Given the description of an element on the screen output the (x, y) to click on. 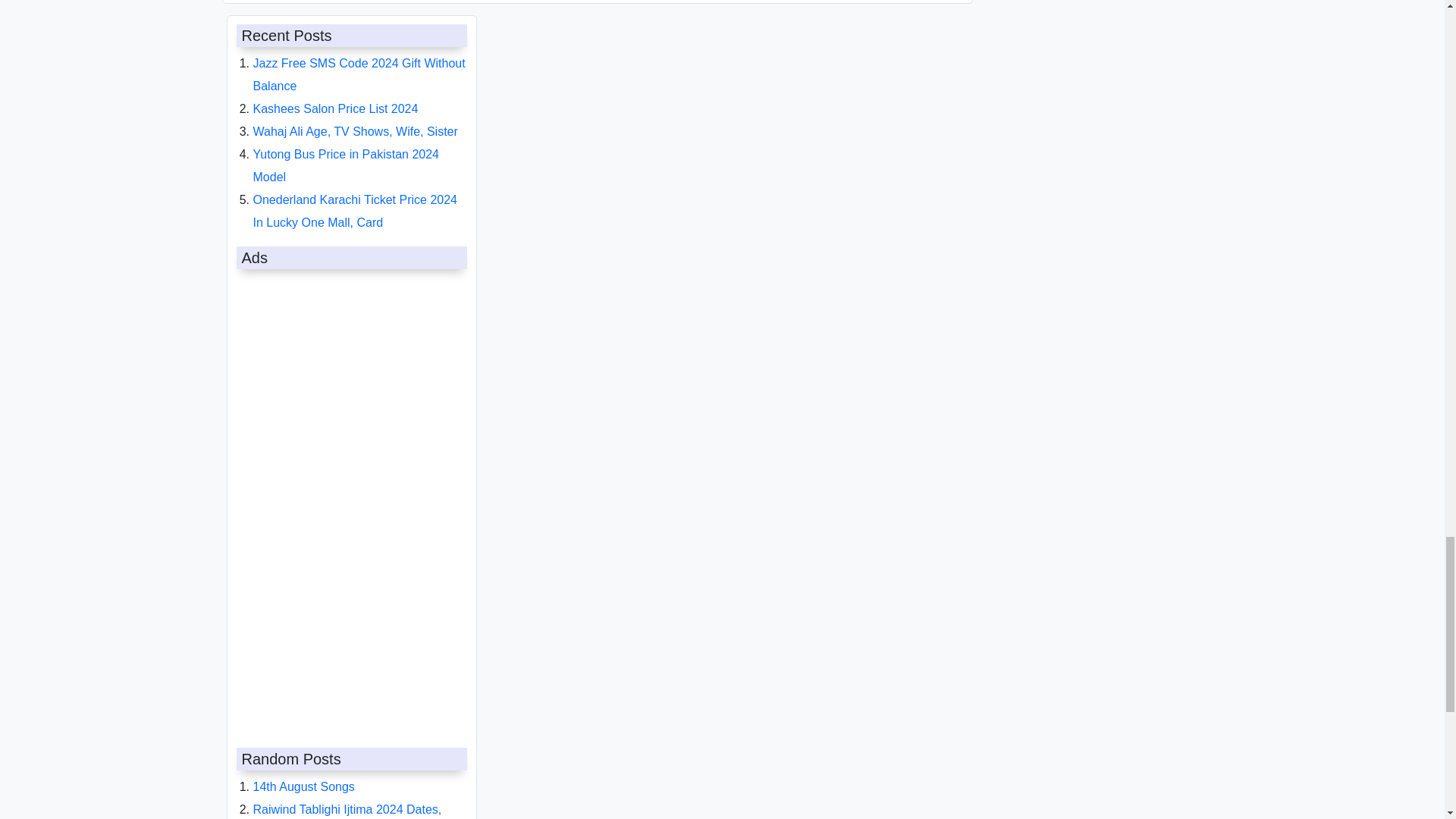
Wahaj Ali Age, TV Shows, Wife, Sister (355, 130)
Raiwind Tablighi Ijtima 2024 Dates, Bayan, Dua (347, 810)
Kashees Salon Price List 2024 (336, 107)
14th August Songs (304, 785)
Yutong Bus Price in Pakistan 2024 Model (346, 164)
Jazz Free SMS Code 2024 Gift Without Balance (359, 73)
Onederland Karachi Ticket Price 2024 In Lucky One Mall, Card (355, 210)
